Given the description of an element on the screen output the (x, y) to click on. 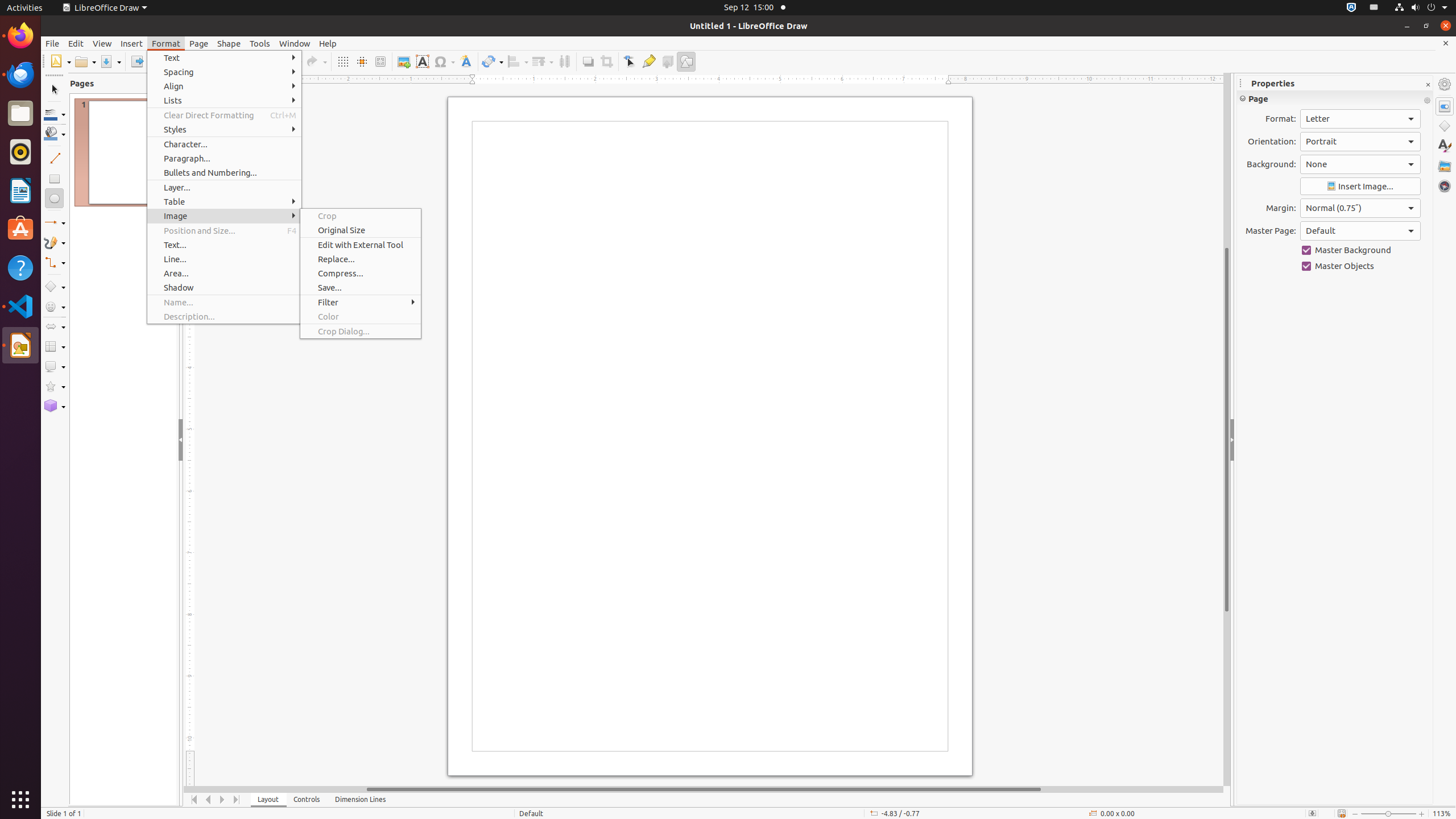
Master Background Element type: check-box (1360, 249)
Format: Element type: combo-box (1360, 118)
Edit Points Element type: push-button (629, 61)
Move To End Element type: push-button (236, 799)
Controls Element type: page-tab (307, 799)
